Given the description of an element on the screen output the (x, y) to click on. 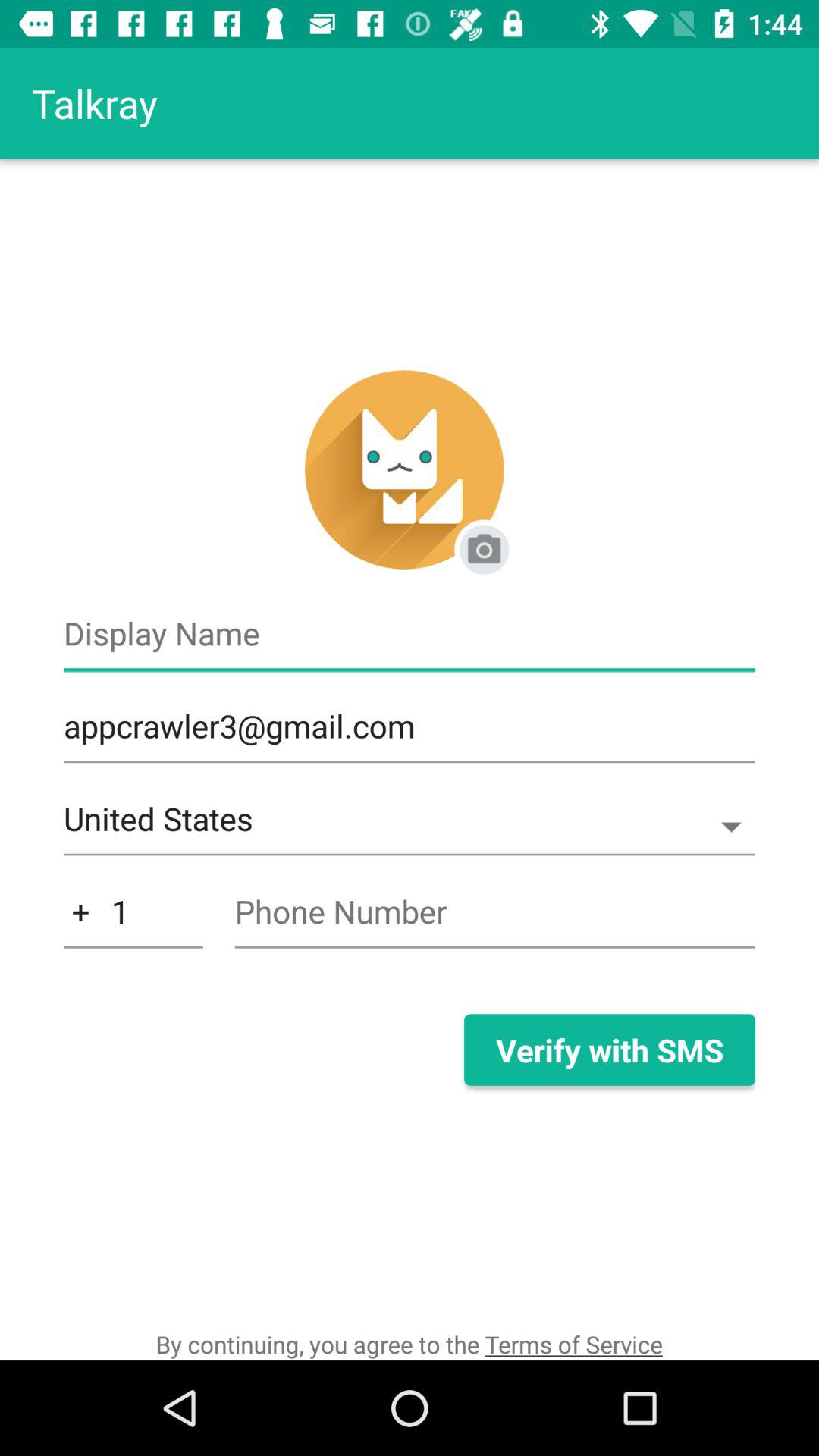
launch item at the bottom right corner (609, 1049)
